Given the description of an element on the screen output the (x, y) to click on. 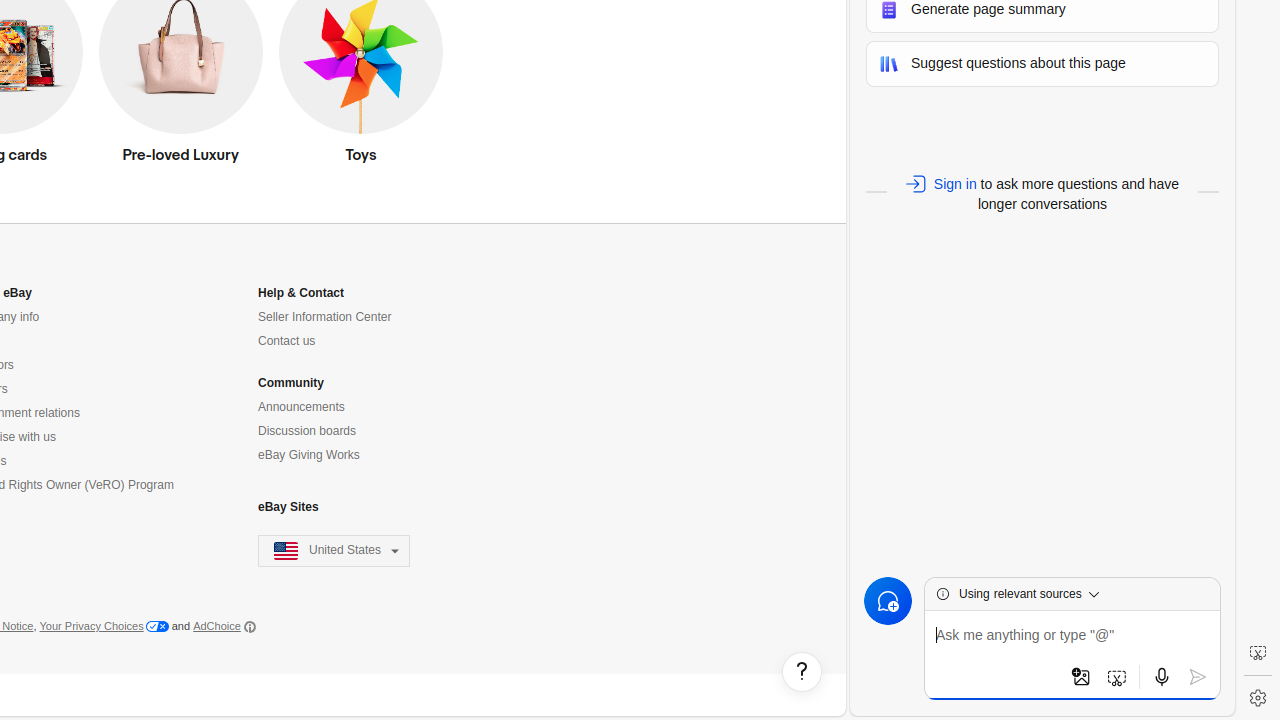
Discussion boards Element type: link (307, 431)
eBay sites,United States Element type: push-button (334, 551)
Your Privacy Choices Element type: link (104, 627)
Community Element type: link (291, 383)
Help, opens dialogs Element type: push-button (802, 672)
